Given the description of an element on the screen output the (x, y) to click on. 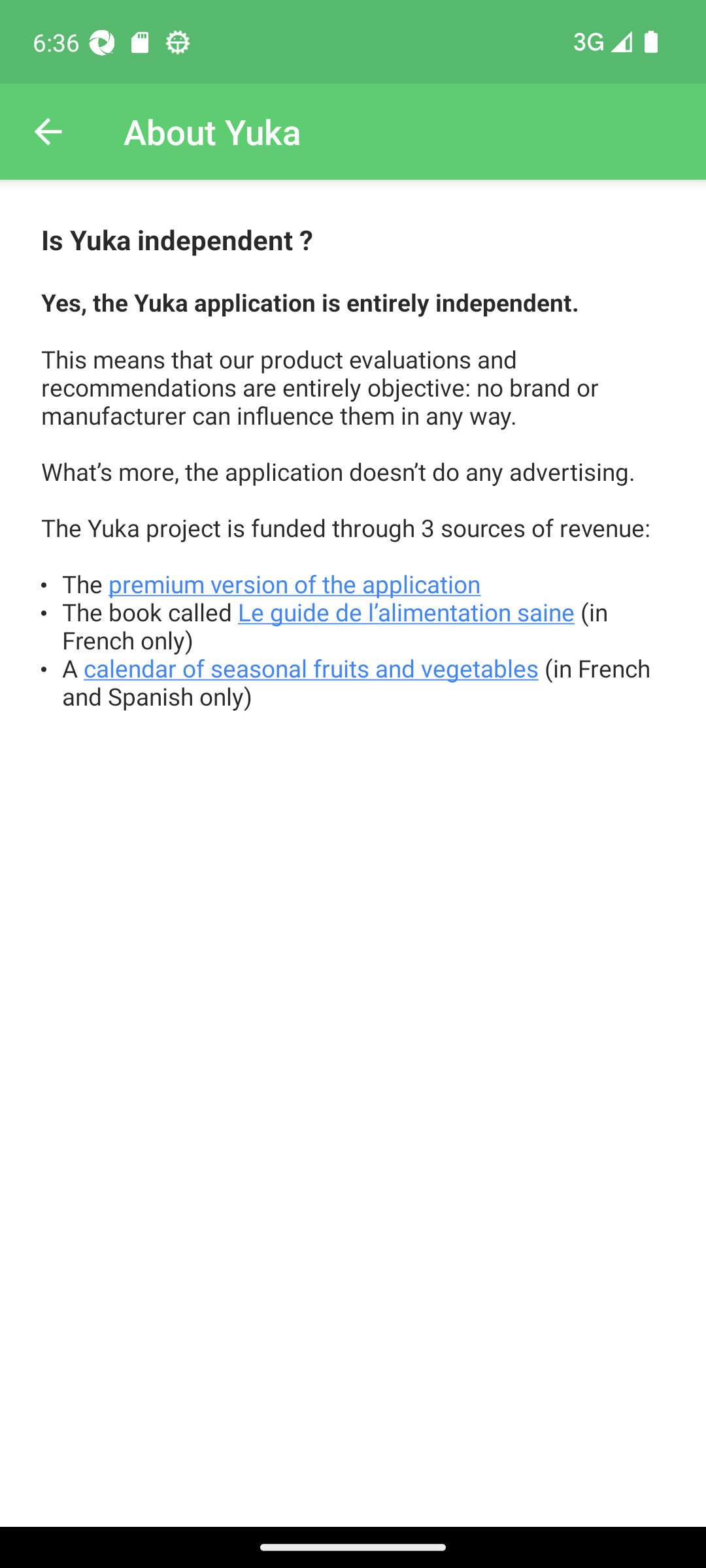
Navigate up (48, 131)
